Given the description of an element on the screen output the (x, y) to click on. 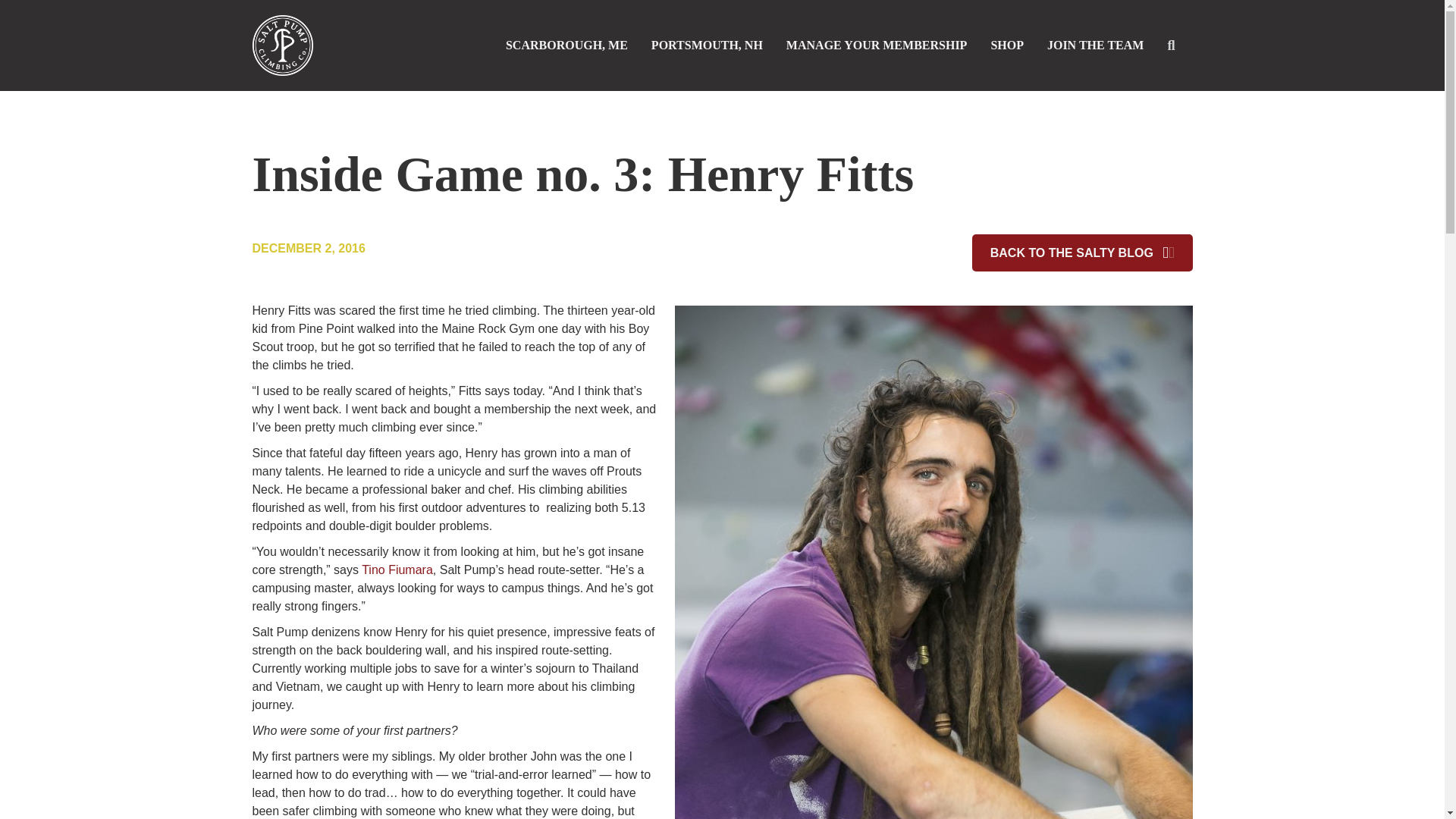
SEARCH (1174, 45)
SHOP (1006, 45)
BACK TO THE SALTY BLOG (1082, 252)
SCARBOROUGH, ME (567, 45)
JOIN THE TEAM (1094, 45)
MANAGE YOUR MEMBERSHIP (876, 45)
PORTSMOUTH, NH (707, 45)
Tino Fiumara (396, 569)
Salt Pump double circle logo white 1280sq (282, 45)
